Given the description of an element on the screen output the (x, y) to click on. 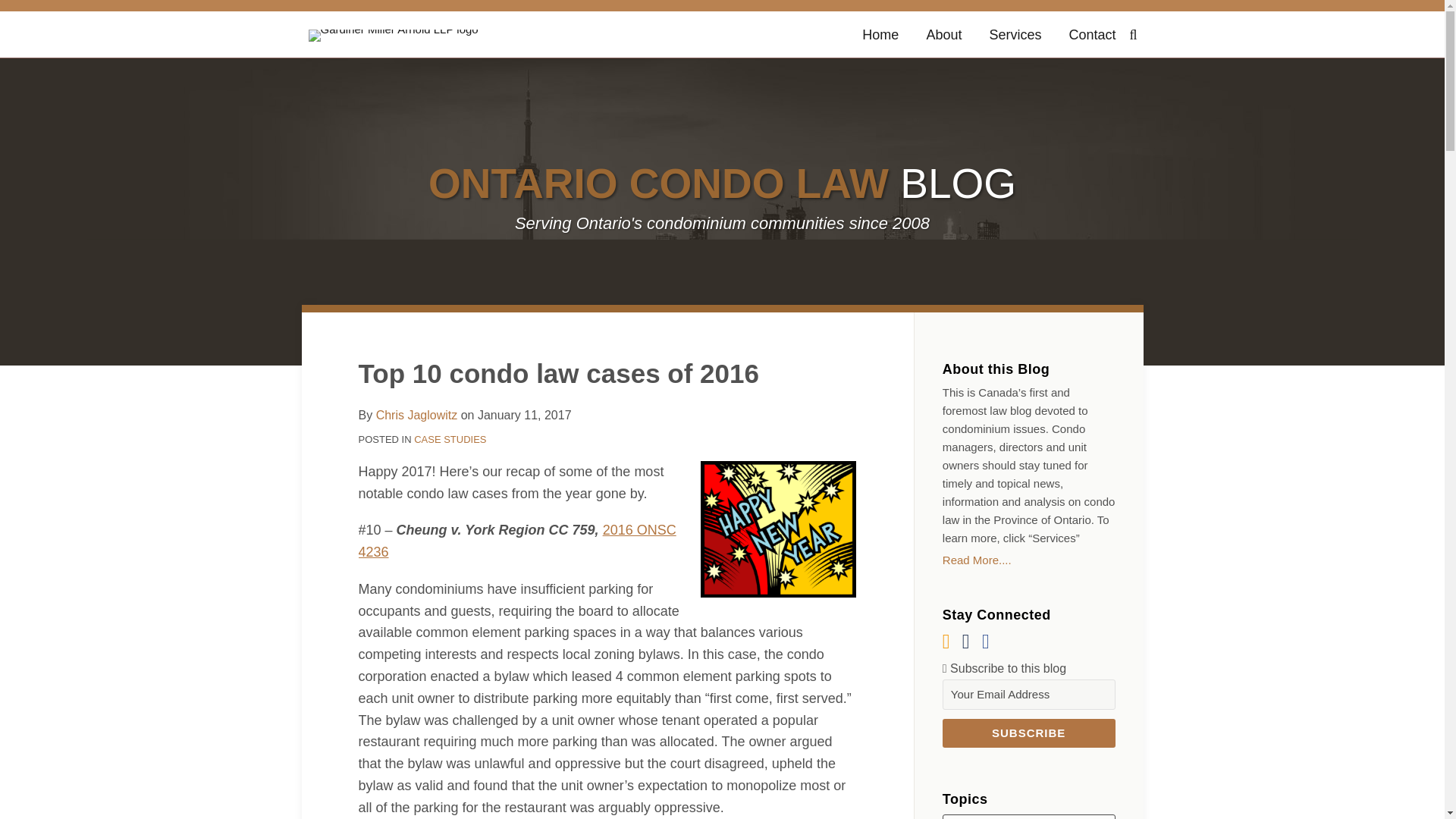
Home (879, 34)
About (943, 34)
Services (1014, 34)
Subscribe (1028, 733)
CASE STUDIES (449, 439)
Contact (1091, 34)
Chris Jaglowitz (416, 414)
2016 ONSC 4236 (516, 540)
ONTARIO CONDO LAW BLOG (722, 183)
